Given the description of an element on the screen output the (x, y) to click on. 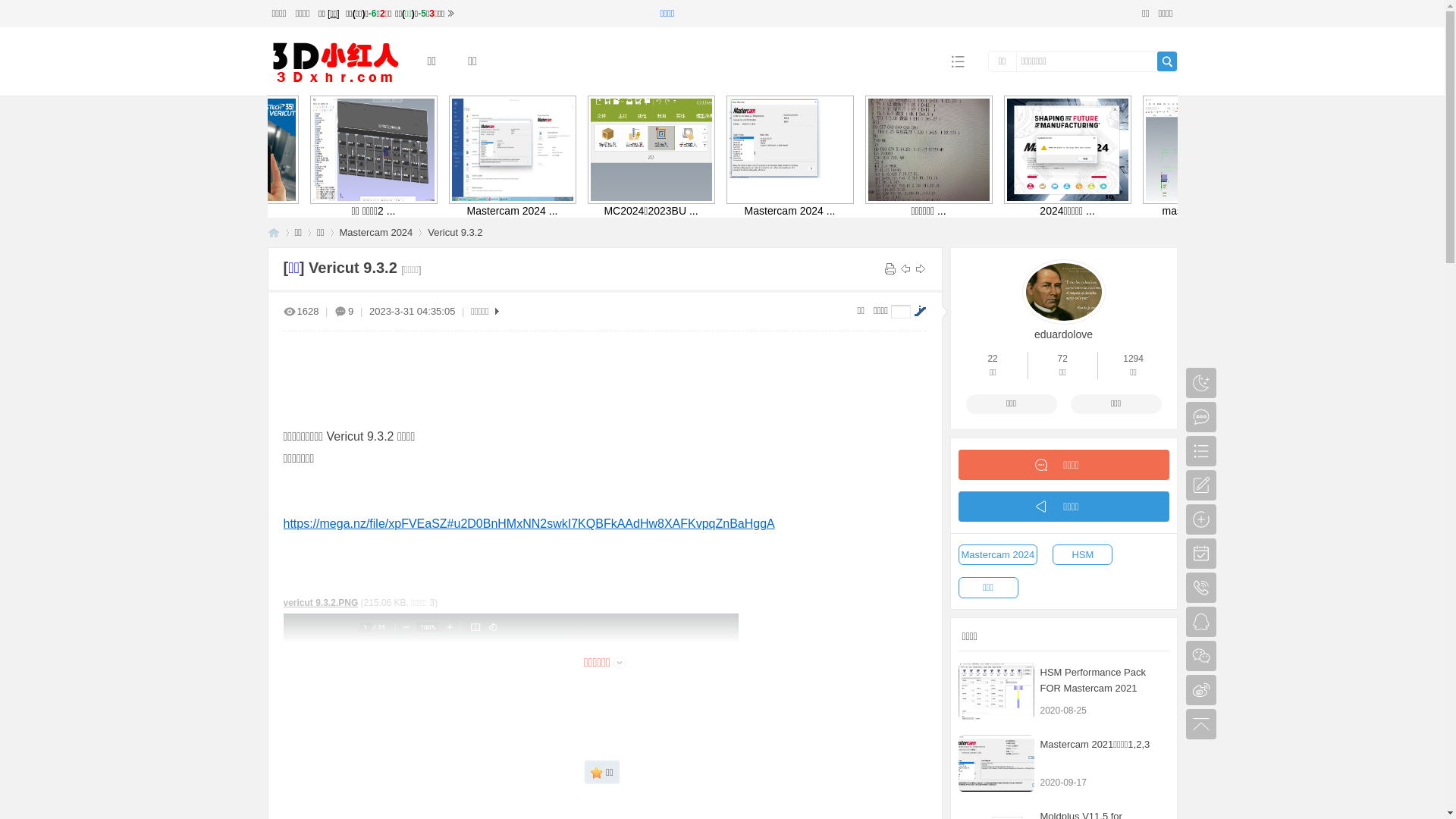
22 Element type: text (992, 358)
Vericut 9.3.2 Element type: text (454, 232)
HSM Performance Pack FOR Mastercam 2021 Element type: text (1092, 679)
Design Tools 1 ... Element type: text (357, 210)
HSM Performance Pack FOR Mastercam 2021 Element type: hover (996, 690)
Mastercam 2024 ... Element type: text (770, 210)
true Element type: text (1166, 61)
Vericut 9.4 Element type: text (495, 210)
Mastercam 2024 ... Element type: hover (861, 149)
1294 Element type: text (1133, 358)
vericut 9.3.2.PNG Element type: text (320, 602)
Vericut 9.4 Element type: hover (313, 149)
72 Element type: text (1061, 358)
Mastercam 2024 ... Element type: text (1043, 210)
Mastercam 2024 Element type: text (376, 232)
Mastercam 2024 ... Element type: hover (586, 149)
HSM Element type: text (1082, 554)
eduardolove Element type: text (1063, 333)
Mastercam 2024 Element type: text (998, 554)
